Given the description of an element on the screen output the (x, y) to click on. 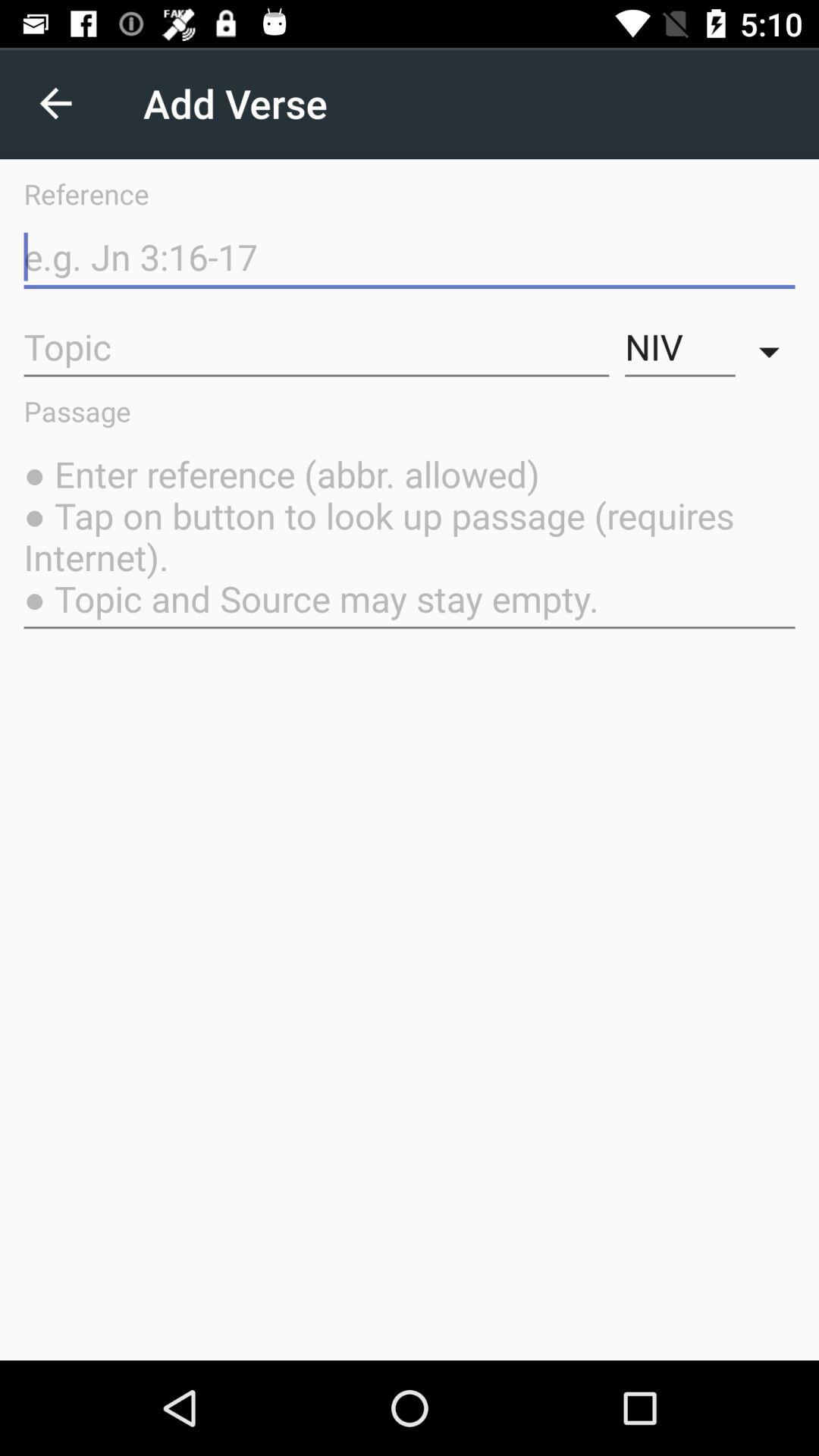
press the app to the left of the add verse app (55, 103)
